Given the description of an element on the screen output the (x, y) to click on. 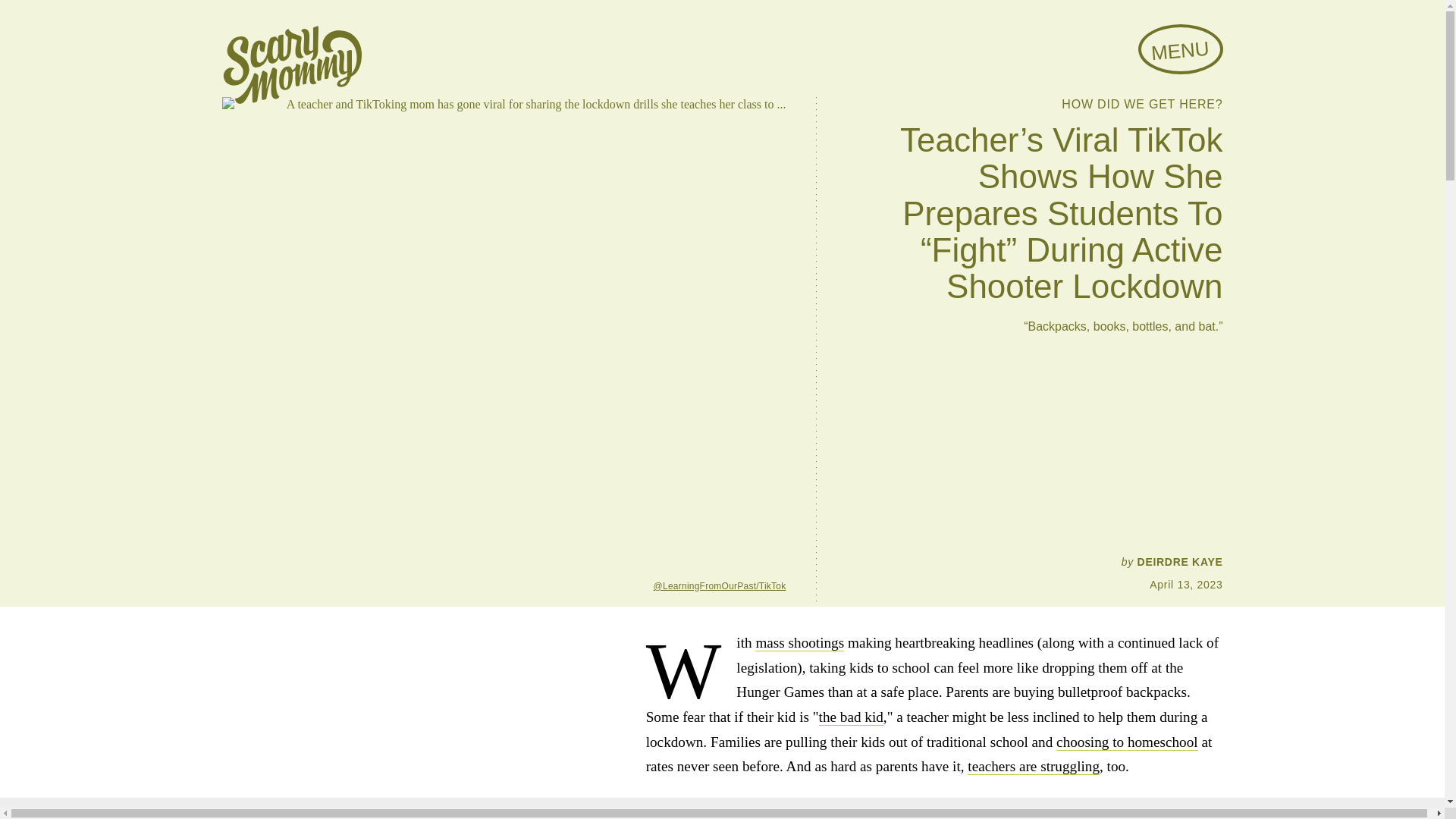
Scary Mommy (291, 64)
DEIRDRE KAYE (1180, 562)
mass shootings (799, 642)
teachers are struggling (1033, 766)
choosing to homeschool (1127, 742)
the bad kid (850, 717)
